Given the description of an element on the screen output the (x, y) to click on. 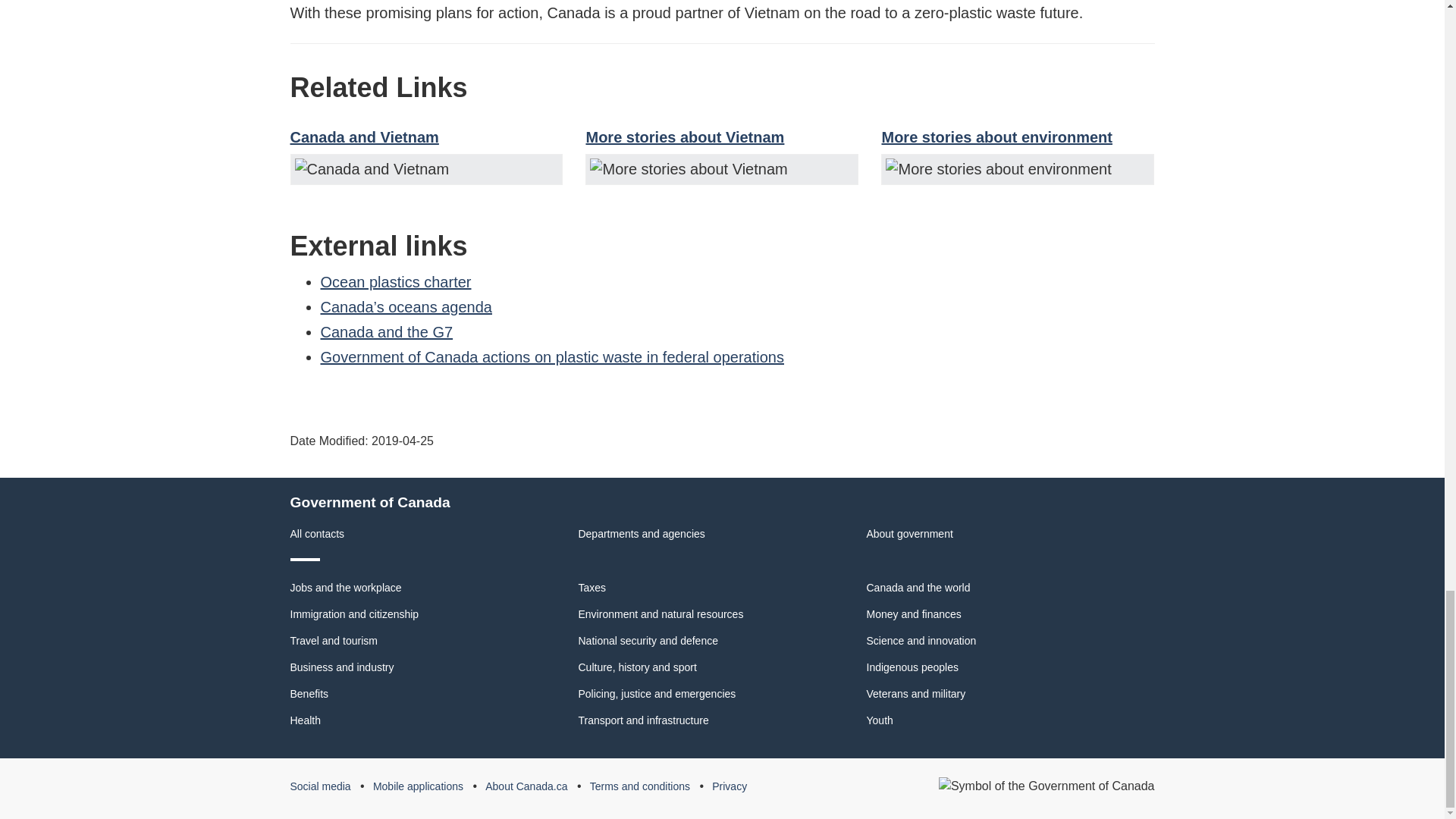
Jobs and the workplace (345, 587)
Ocean plastics charter (395, 281)
Travel and tourism (333, 640)
About government (909, 533)
More stories about Vietnam (684, 136)
More stories about environment (996, 136)
Canada and the G7 (386, 331)
Canada and Vietnam (363, 136)
Departments and agencies (641, 533)
Immigration and citizenship (354, 613)
All contacts (316, 533)
